Given the description of an element on the screen output the (x, y) to click on. 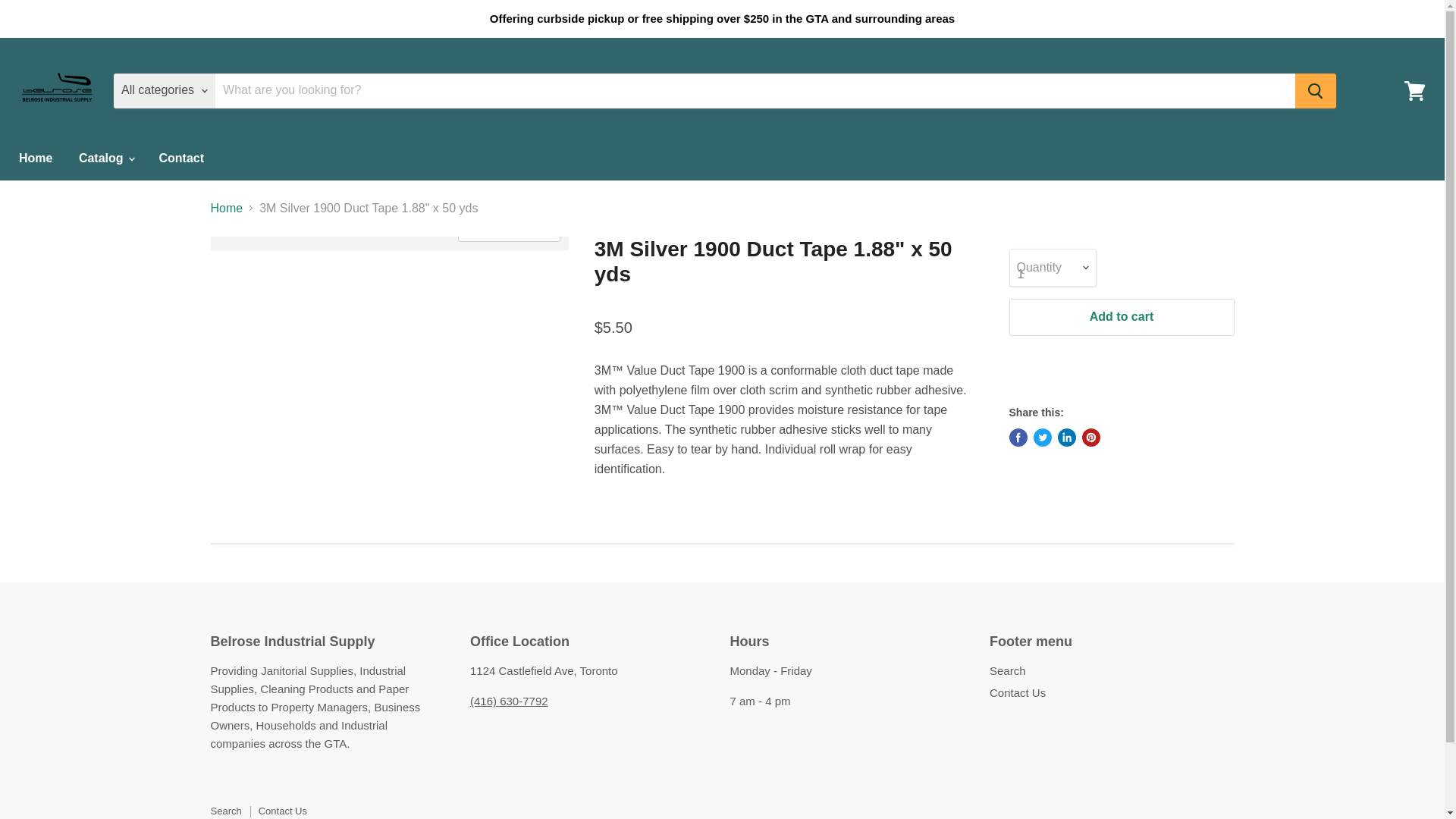
Contact (181, 158)
Add to cart (1121, 316)
View cart (1414, 89)
Home (35, 158)
Catalog (105, 158)
Click to expand (508, 230)
Home (227, 208)
